Given the description of an element on the screen output the (x, y) to click on. 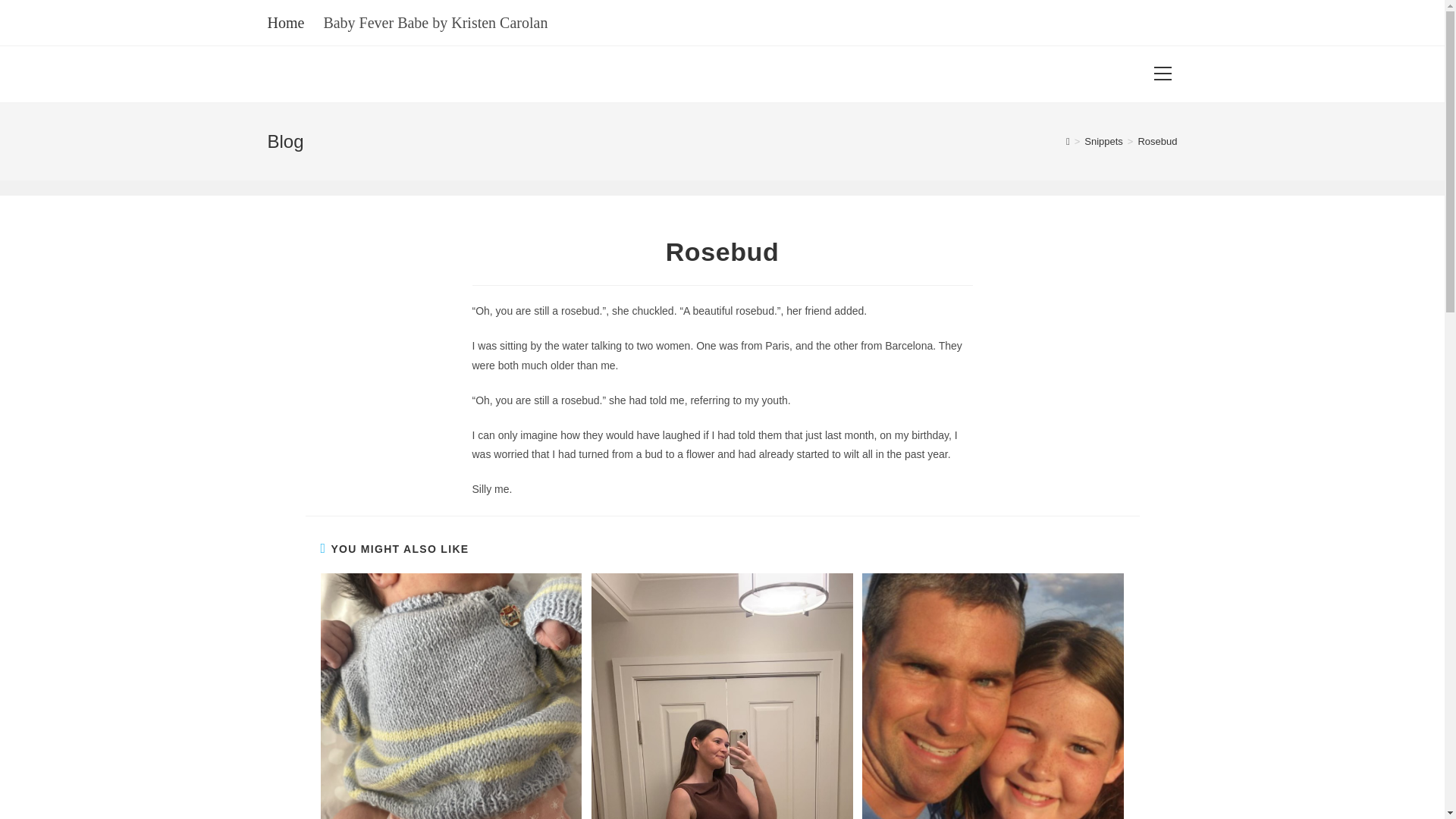
Rosebud (1156, 141)
Home (285, 22)
Snippets (1103, 141)
View website Menu (1162, 74)
